Given the description of an element on the screen output the (x, y) to click on. 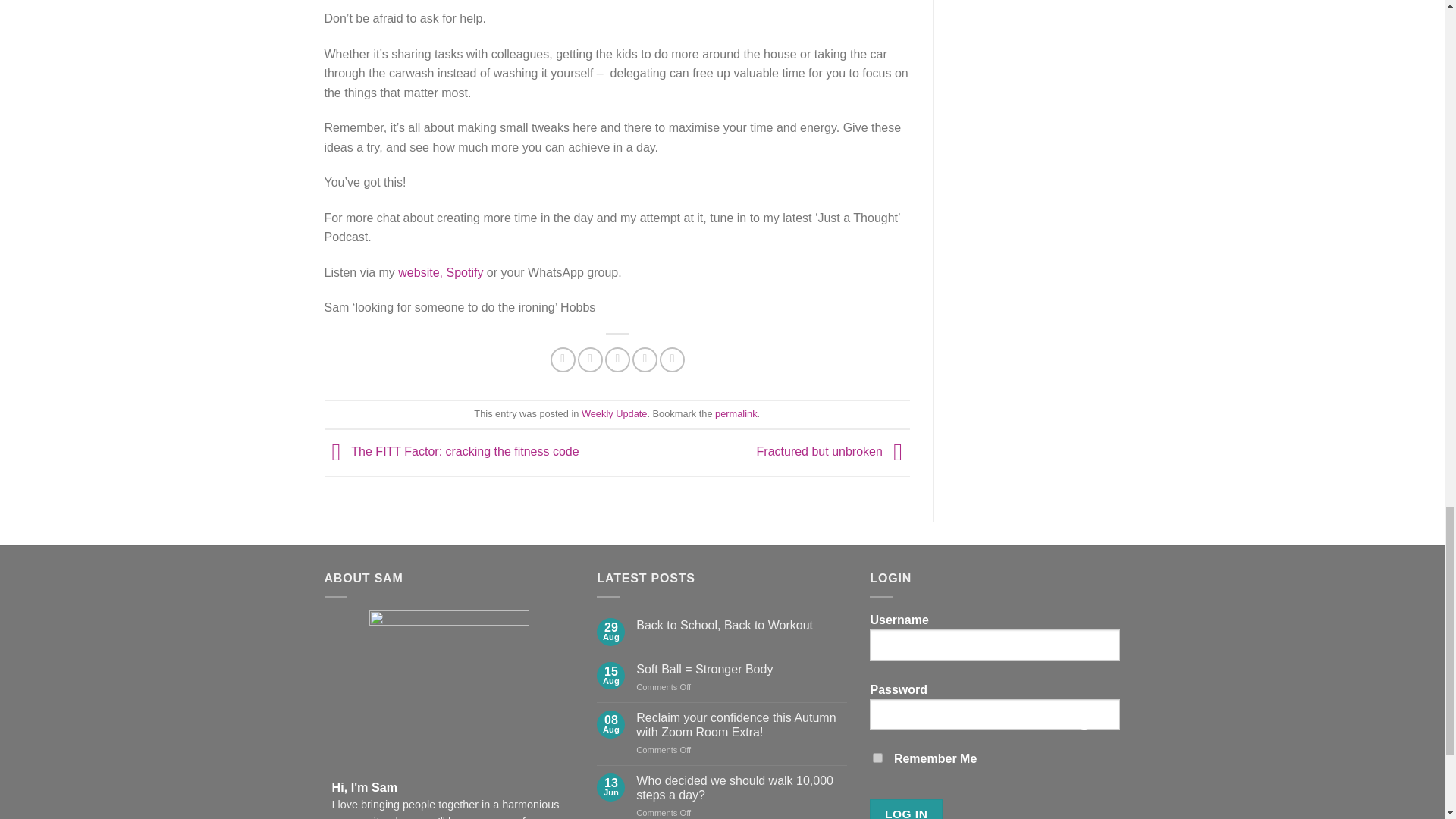
Log In (905, 809)
Share on Facebook (562, 359)
forever (877, 757)
Share on LinkedIn (671, 359)
Permalink to Unlocking more hours in your day (735, 413)
Pin on Pinterest (644, 359)
Email to a Friend (617, 359)
Share on Twitter (590, 359)
